Given the description of an element on the screen output the (x, y) to click on. 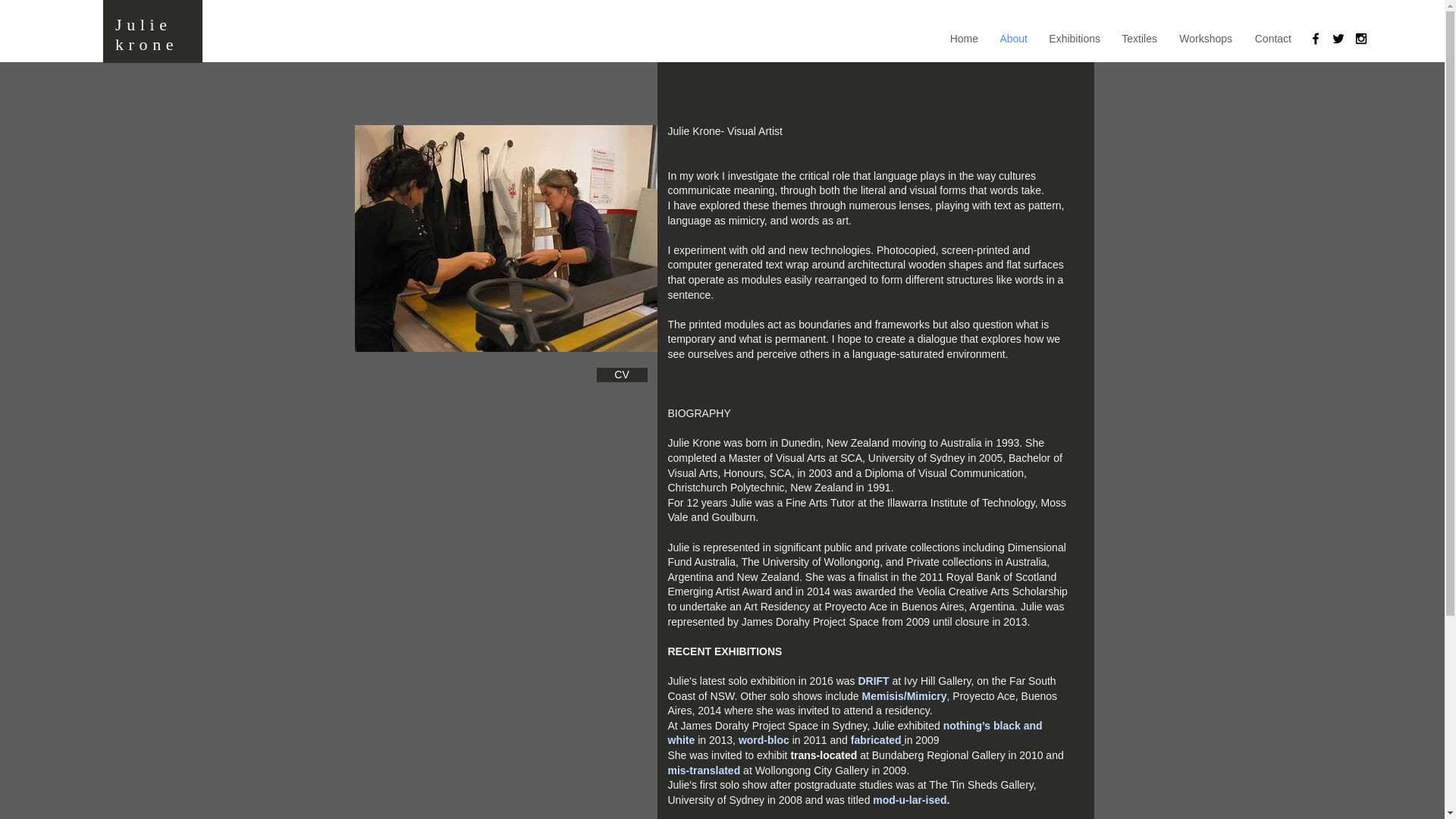
mod-u-lar-ised. (910, 799)
About (1012, 38)
Contact (1271, 38)
Textiles (1138, 38)
CV (620, 374)
word-bloc (763, 739)
Home (963, 38)
mis-translated (702, 770)
fabricated (877, 739)
DRIFT (872, 680)
Workshops (1204, 38)
Exhibitions (1072, 38)
